Given the description of an element on the screen output the (x, y) to click on. 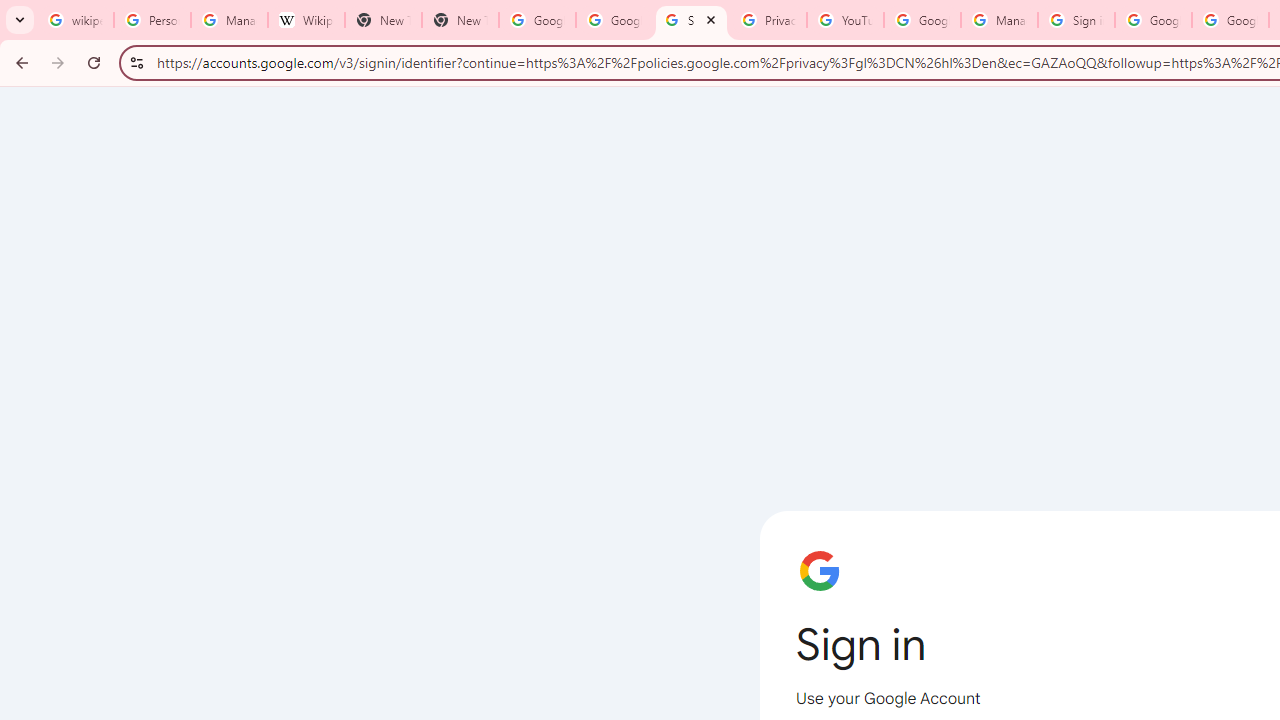
Google Account Help (922, 20)
Personalization & Google Search results - Google Search Help (151, 20)
New Tab (460, 20)
Manage your Location History - Google Search Help (228, 20)
Sign in - Google Accounts (1076, 20)
Google Drive: Sign-in (614, 20)
New Tab (383, 20)
Sign in - Google Accounts (690, 20)
